Given the description of an element on the screen output the (x, y) to click on. 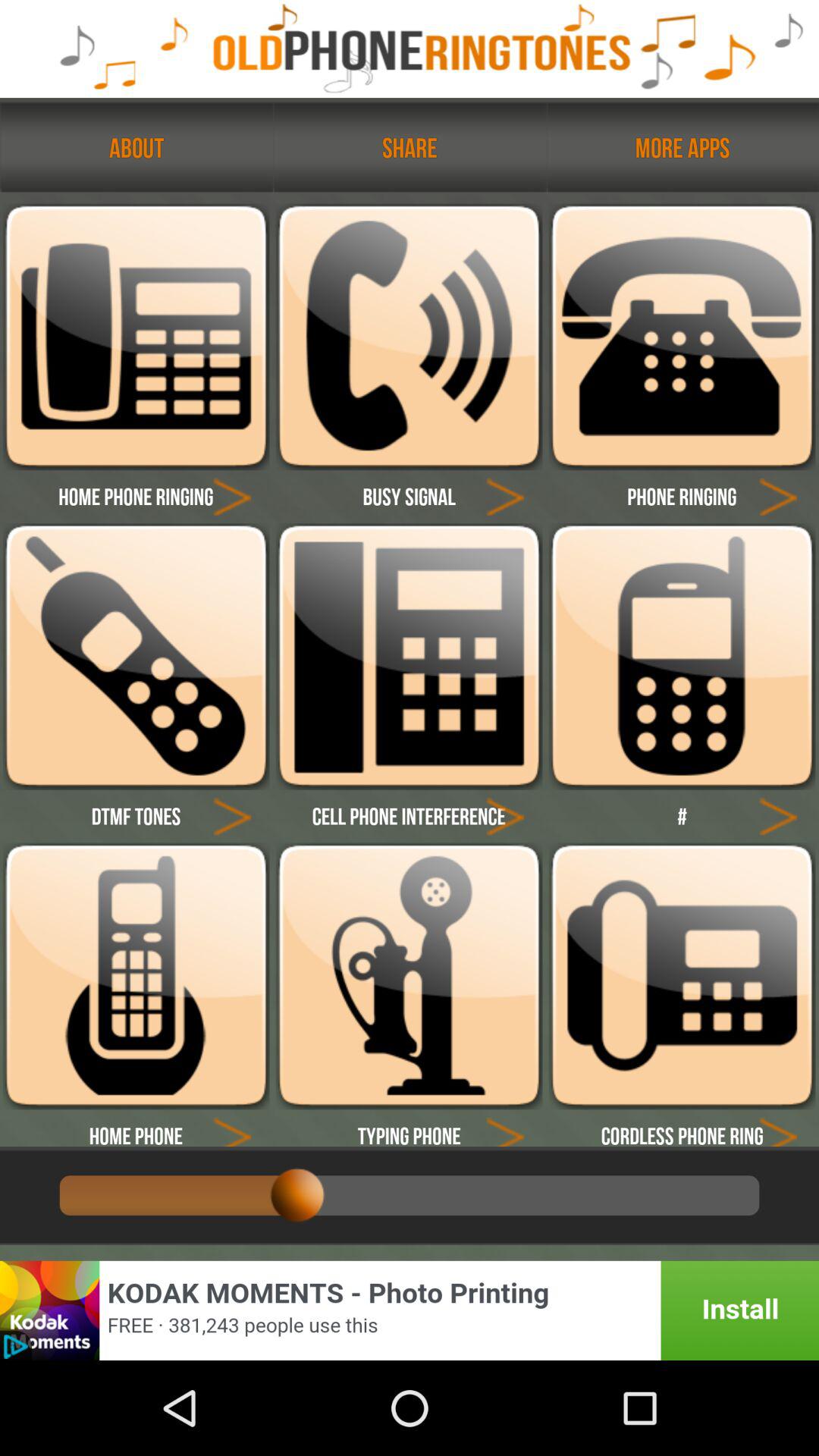
select typing-phone (505, 1127)
